Given the description of an element on the screen output the (x, y) to click on. 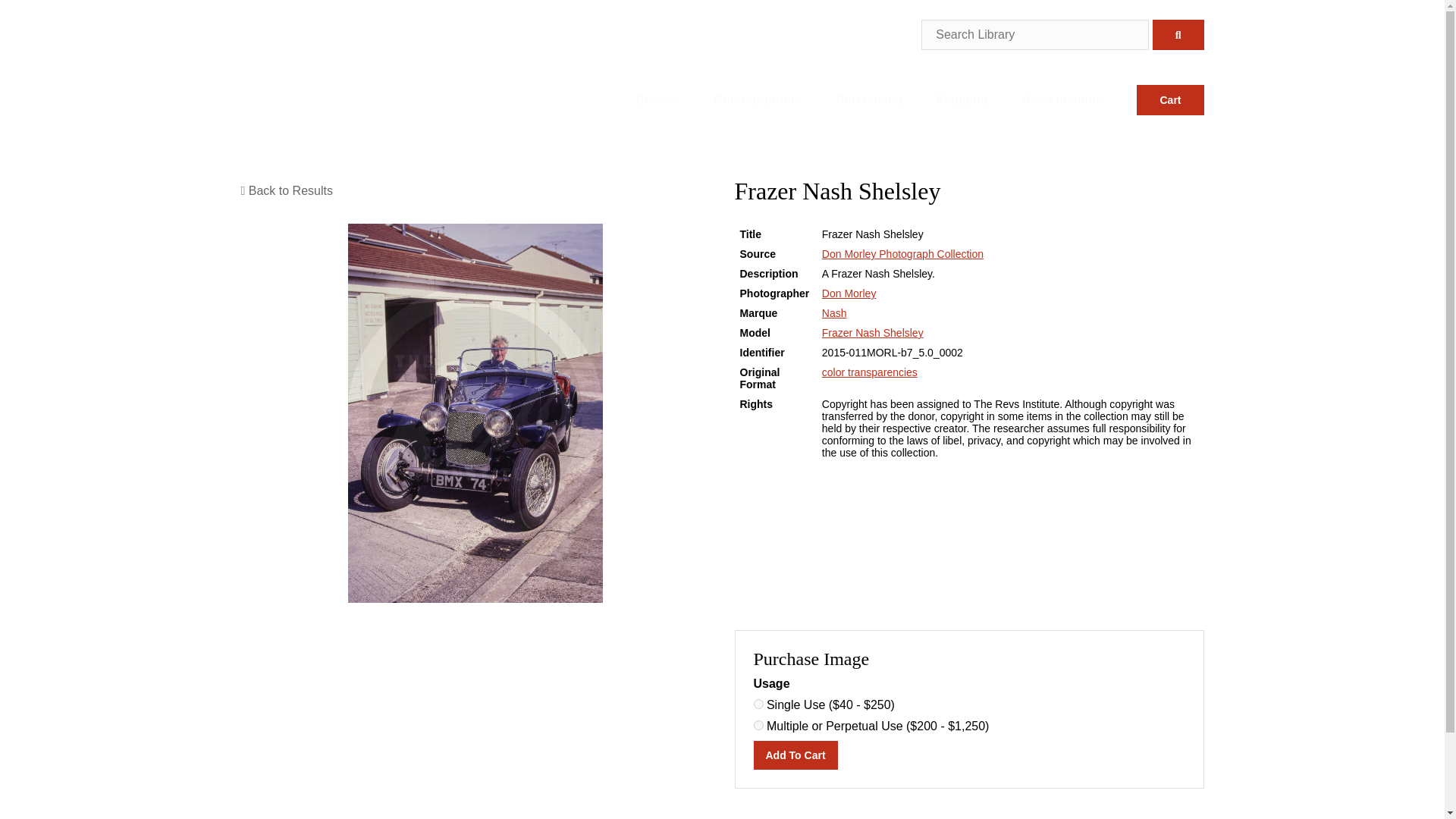
Purchasing (868, 94)
Frazer Nash Shelsley (872, 332)
Don Morley (849, 293)
Browse (656, 94)
Advanced Search (1168, 59)
Revs Institute (1062, 94)
Flagging (962, 94)
Single Use (758, 704)
Back to Results (287, 190)
color transparencies (869, 372)
Submit Search (1178, 34)
Nash (834, 313)
Don Morley Photograph Collection (903, 254)
Add To Cart (796, 755)
Cart (1170, 100)
